Given the description of an element on the screen output the (x, y) to click on. 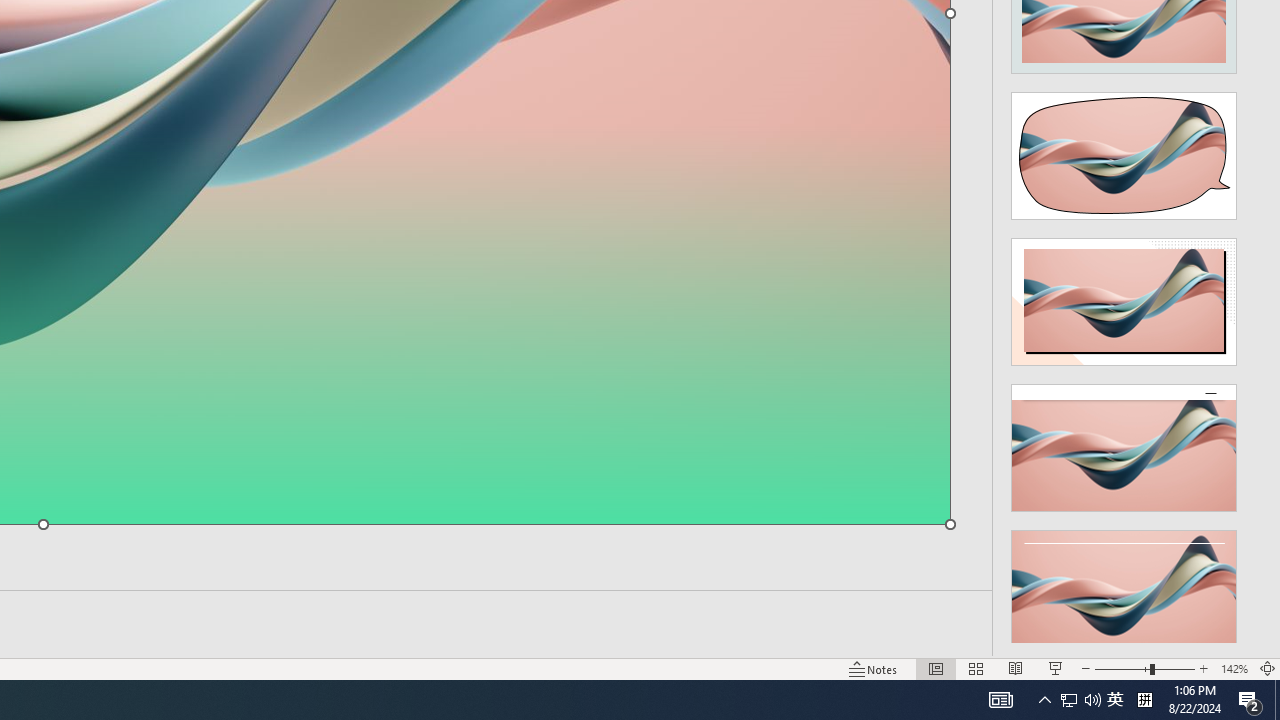
Zoom 142% (1234, 668)
